Given the description of an element on the screen output the (x, y) to click on. 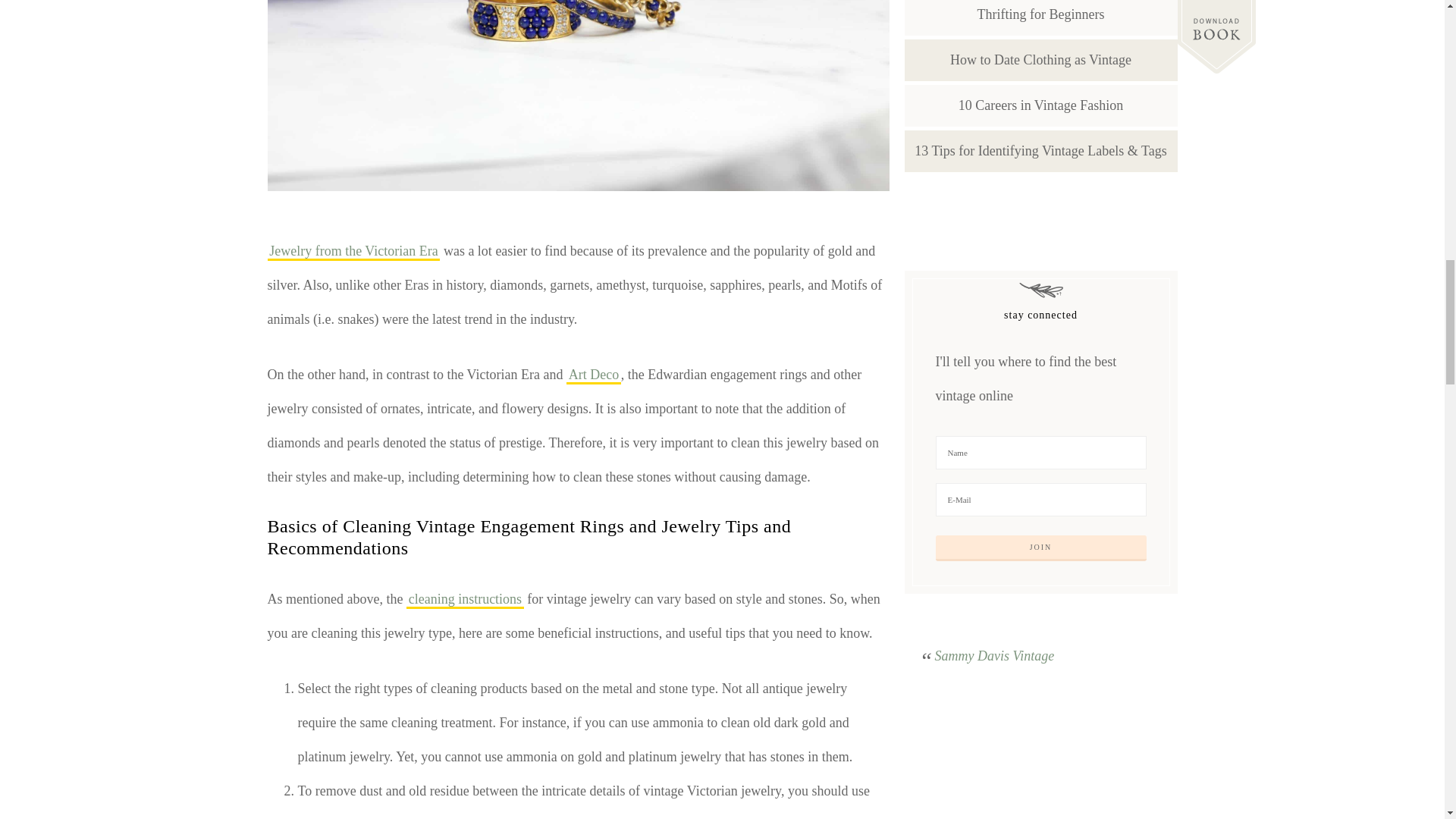
cleaning instructions (465, 600)
How To Care For Vintage Jewelry Especially Engagement Rings (577, 95)
Art Deco (593, 375)
Jewelry from the Victorian Era (352, 252)
Join (1041, 548)
